Given the description of an element on the screen output the (x, y) to click on. 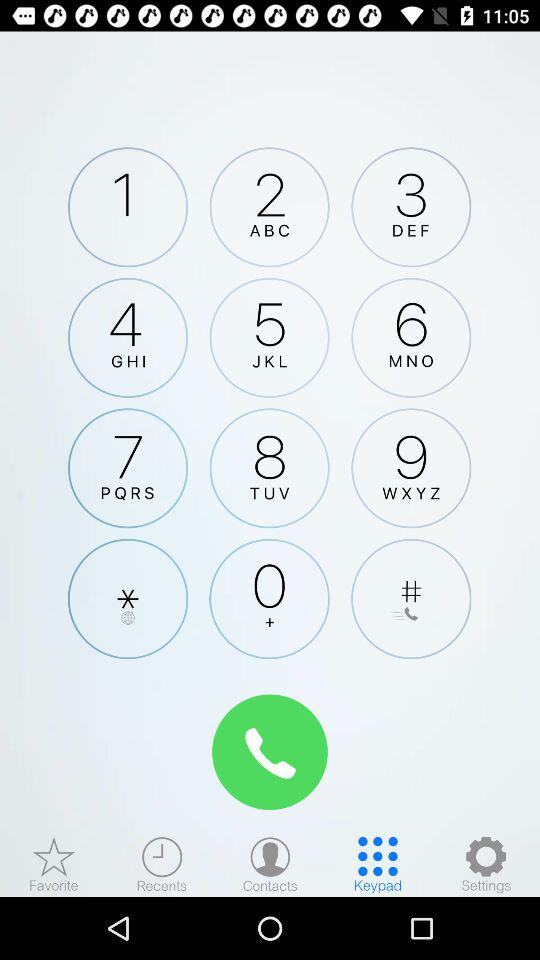
contacts menu (269, 864)
